Given the description of an element on the screen output the (x, y) to click on. 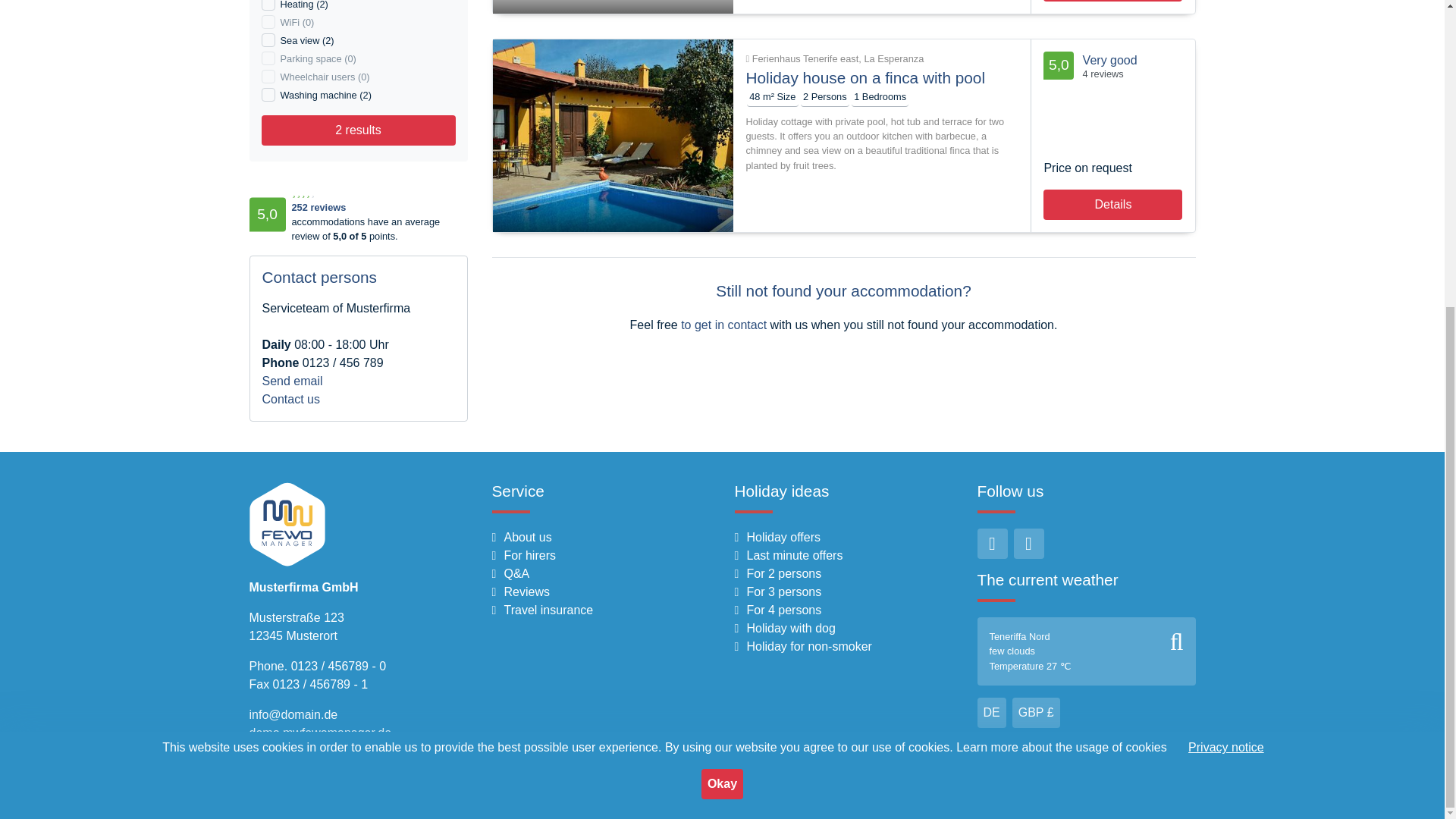
Privacy notice (1225, 262)
Okay (721, 299)
Contact us (291, 399)
Privacy notice (1225, 262)
2 results (357, 130)
Send email (292, 380)
